Given the description of an element on the screen output the (x, y) to click on. 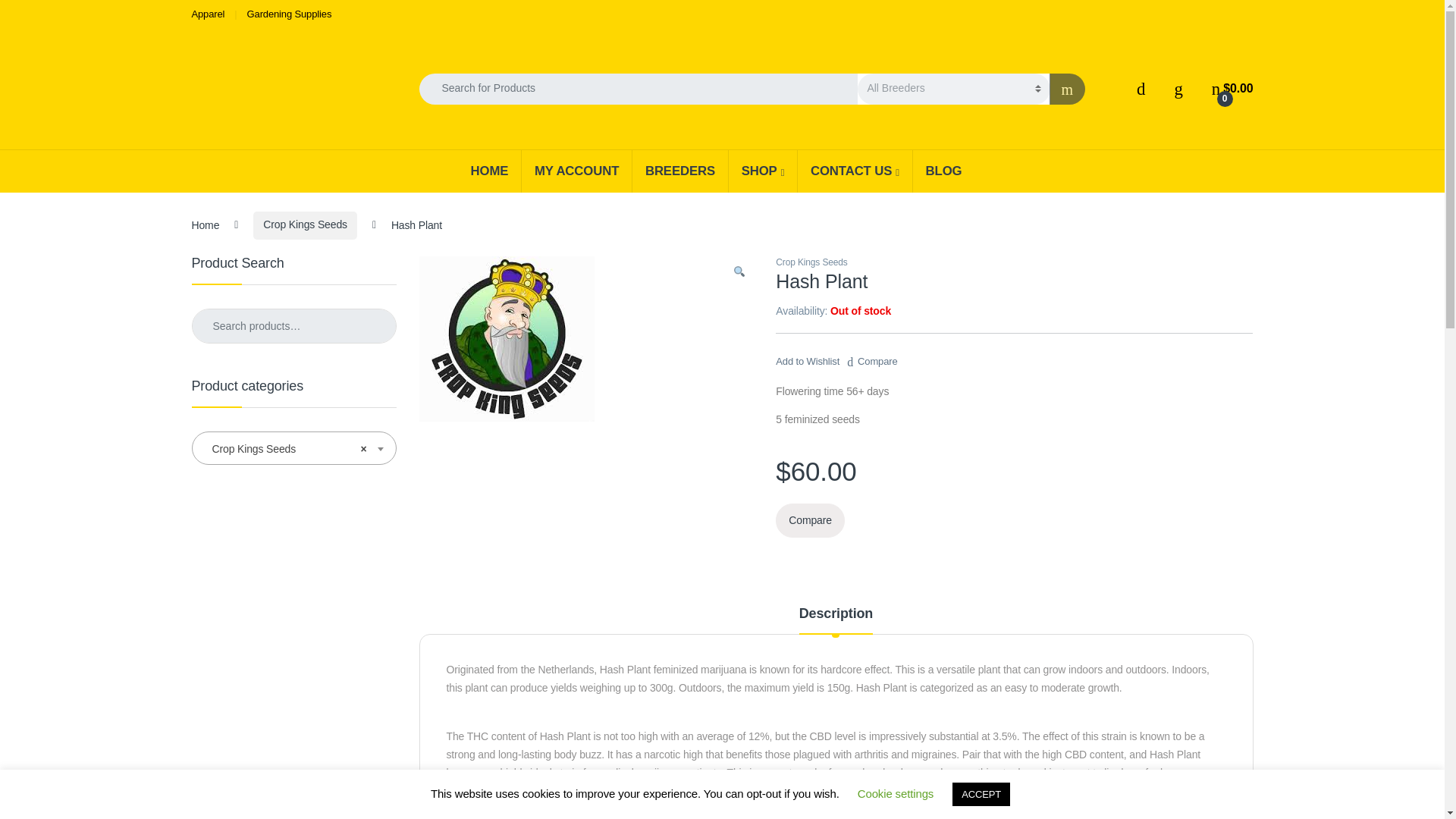
SHOP (762, 170)
HOME (489, 170)
Gardening Supplies (289, 13)
Apparel (207, 13)
BREEDERS (679, 170)
Gardening Supplies (289, 13)
CONTACT US (854, 170)
Apparel (207, 13)
BLOG (943, 170)
MY ACCOUNT (576, 170)
